Given the description of an element on the screen output the (x, y) to click on. 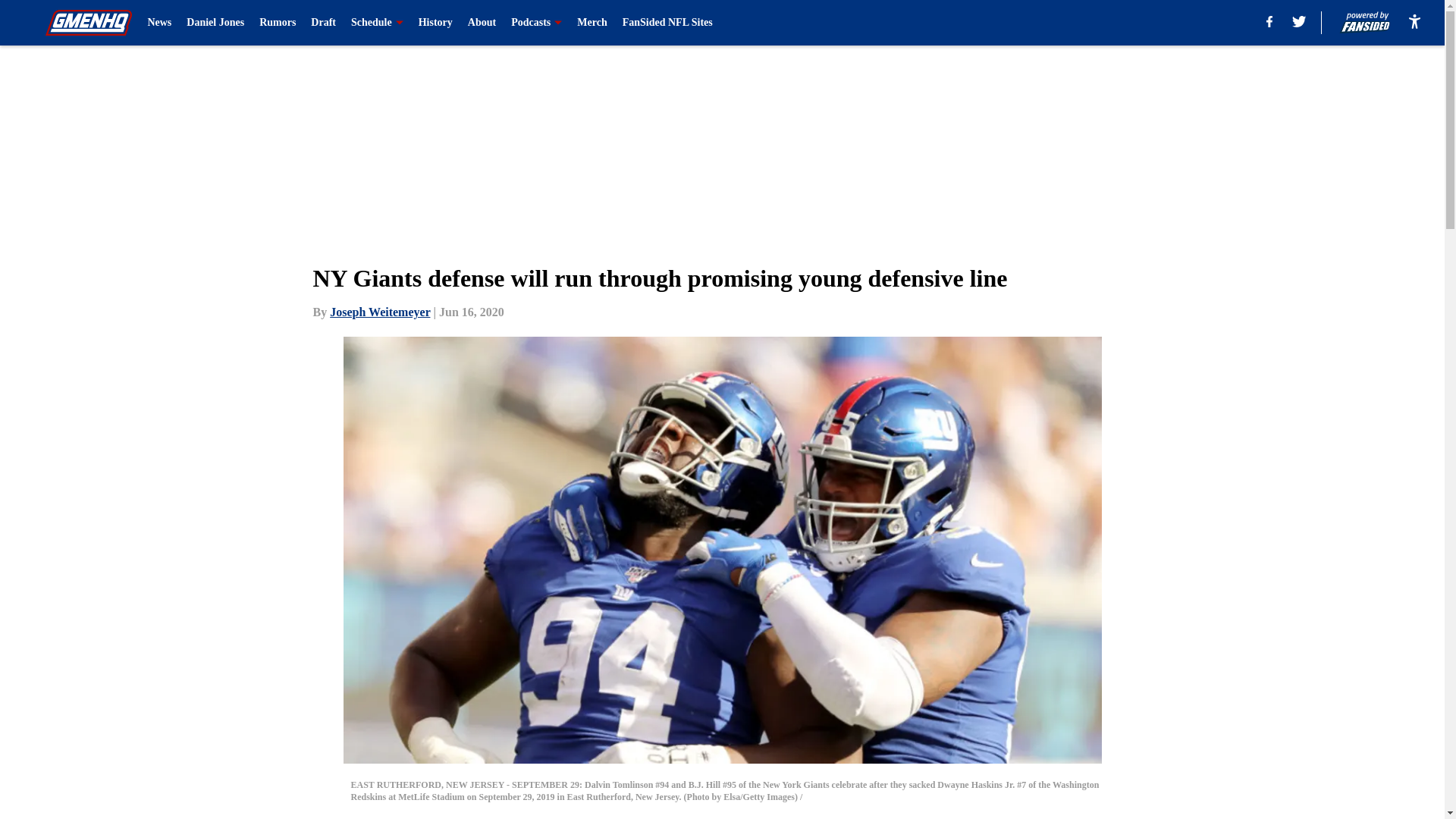
Rumors (277, 22)
About (481, 22)
Daniel Jones (215, 22)
FanSided NFL Sites (668, 22)
History (435, 22)
Merch (591, 22)
Draft (323, 22)
Joseph Weitemeyer (379, 311)
News (159, 22)
